Given the description of an element on the screen output the (x, y) to click on. 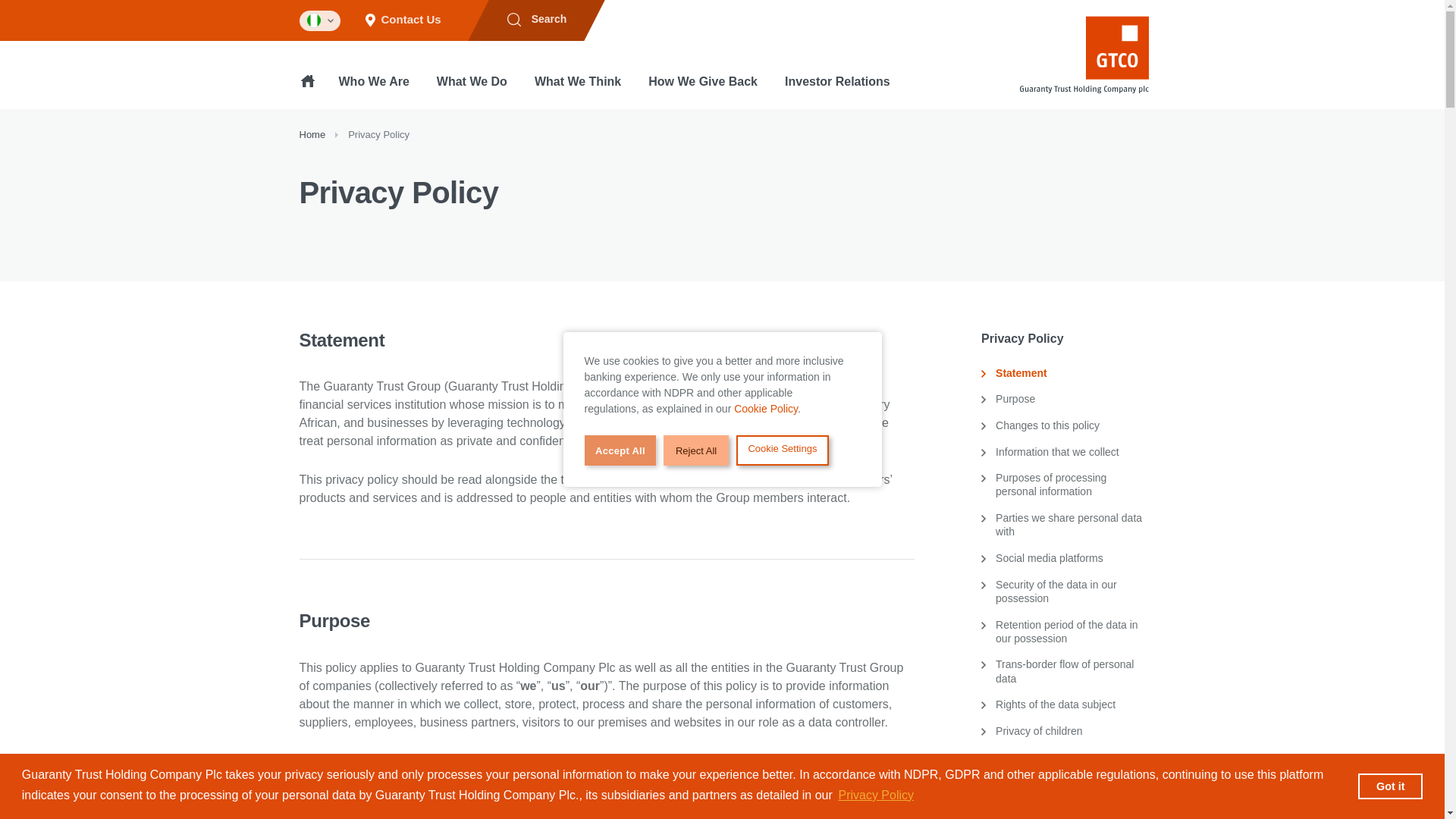
What We Do (471, 90)
Who We Are (373, 90)
Privacy Policy (875, 794)
Got it (1390, 786)
Contact Us (403, 19)
What We Think (577, 90)
Search (536, 20)
